Given the description of an element on the screen output the (x, y) to click on. 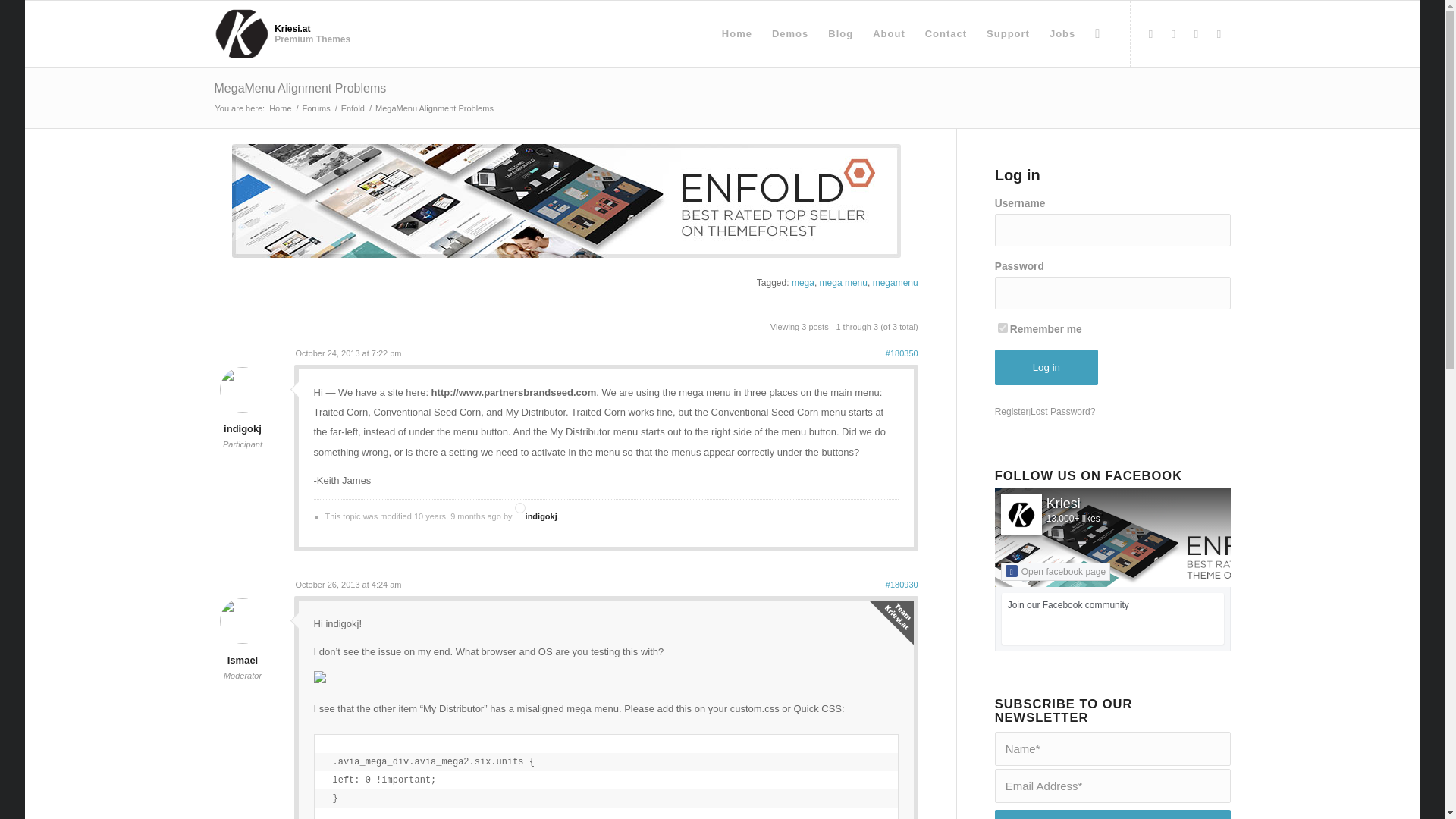
Lost Password? (1062, 411)
Permanent Link: MegaMenu Alignment Problems (299, 88)
Register (1011, 411)
true (1002, 327)
Enfold (352, 108)
Open facebook page (1055, 571)
mega (802, 282)
Twitter (1173, 33)
Contact (945, 33)
mega menu (843, 282)
